Given the description of an element on the screen output the (x, y) to click on. 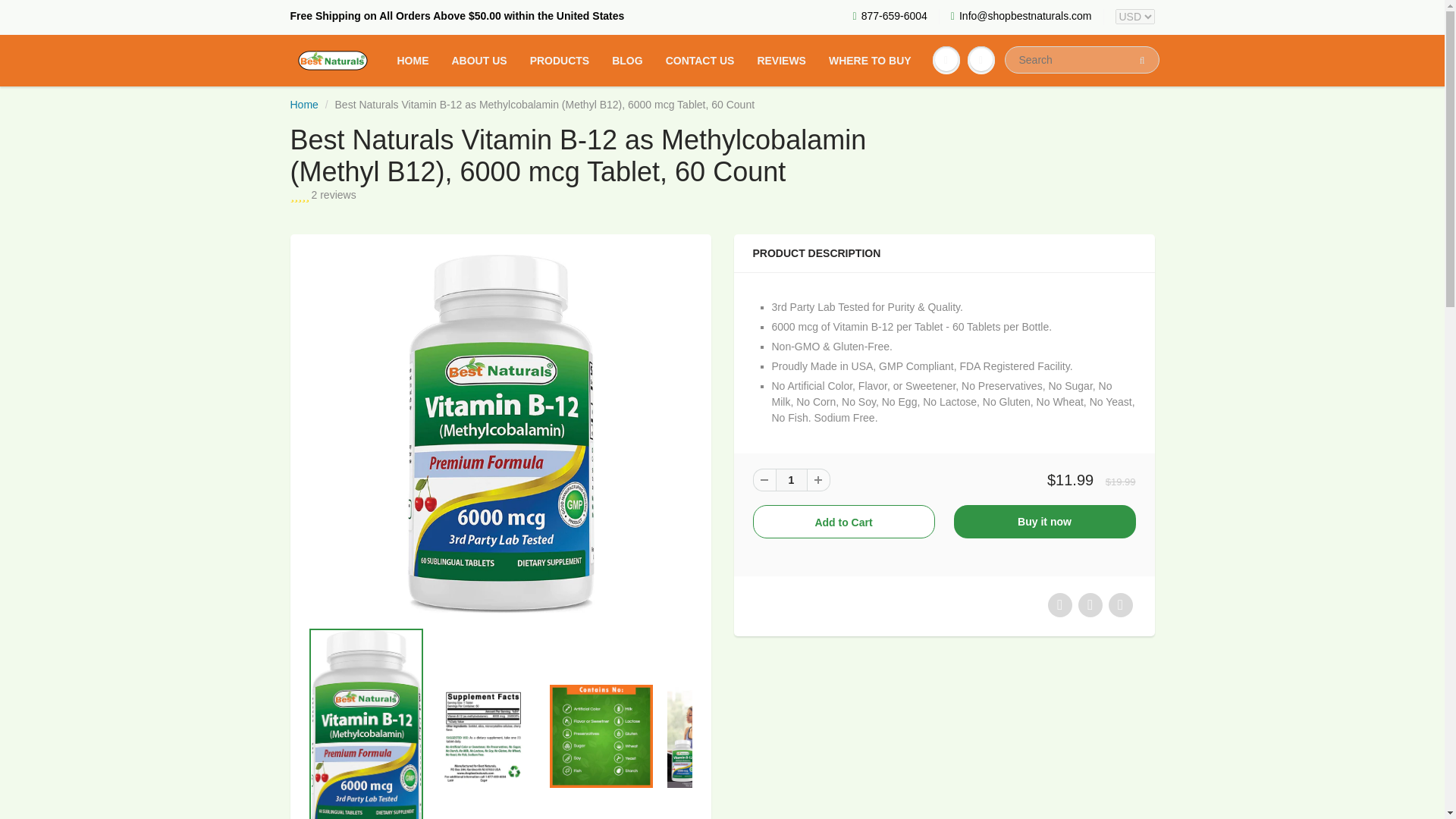
Home (303, 104)
HOME (412, 60)
PRODUCTS (559, 60)
BLOG (626, 60)
CONTACT US (699, 60)
877-659-6004 (890, 16)
Home (303, 104)
Add to Cart (843, 521)
WHERE TO BUY (869, 60)
Add to Cart (843, 521)
ABOUT US (478, 60)
1 (790, 479)
REVIEWS (780, 60)
Buy it now (1044, 521)
